Given the description of an element on the screen output the (x, y) to click on. 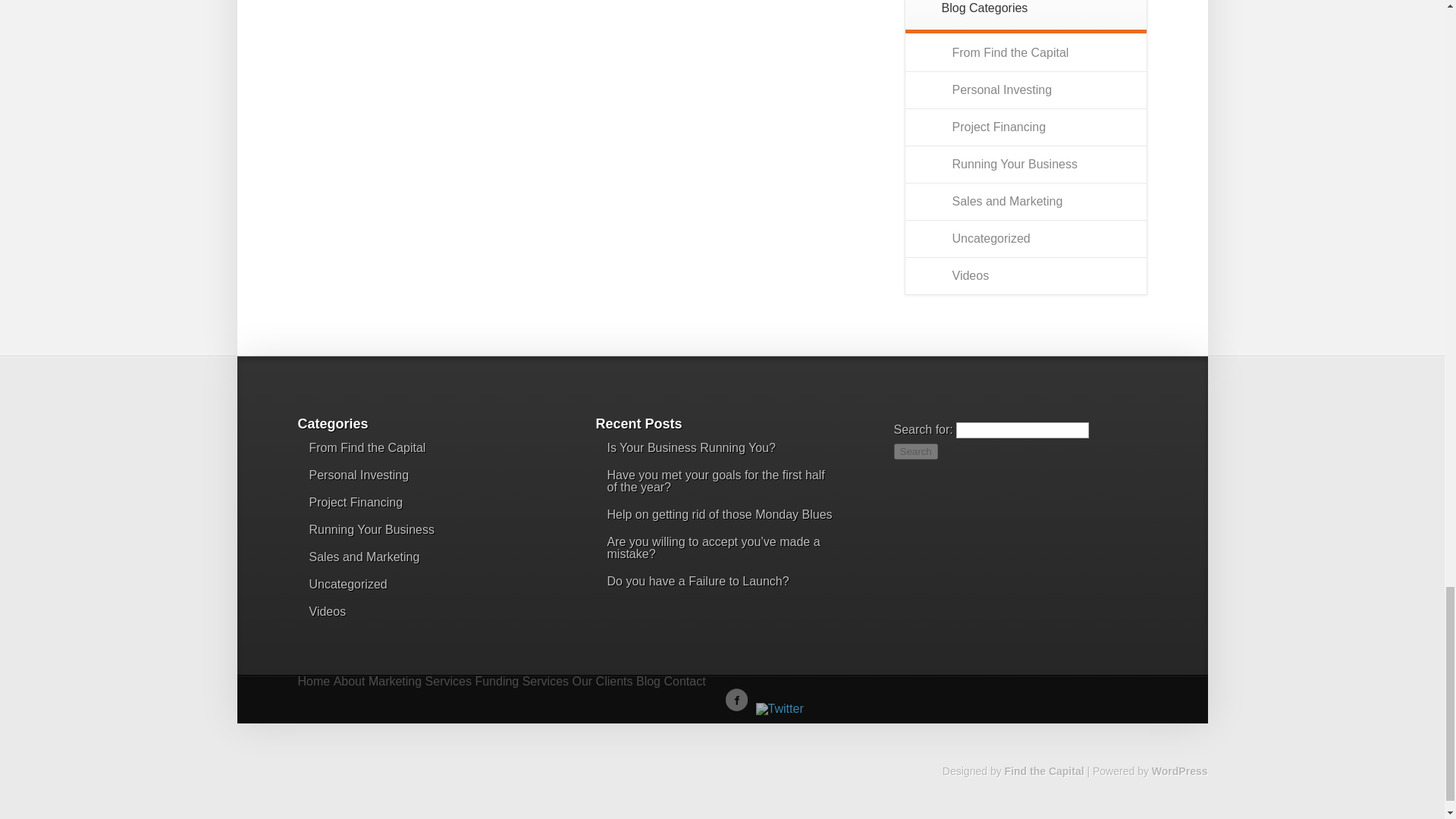
Anything and Everything You Need to Know About Investing (1002, 89)
Anything and Everything You Need to Know About Investing (358, 474)
Anything and Everything About How to Get Your Deal Funded (355, 502)
Anything and Everything About How to Get Your Deal Funded (999, 126)
Search (915, 451)
